Given the description of an element on the screen output the (x, y) to click on. 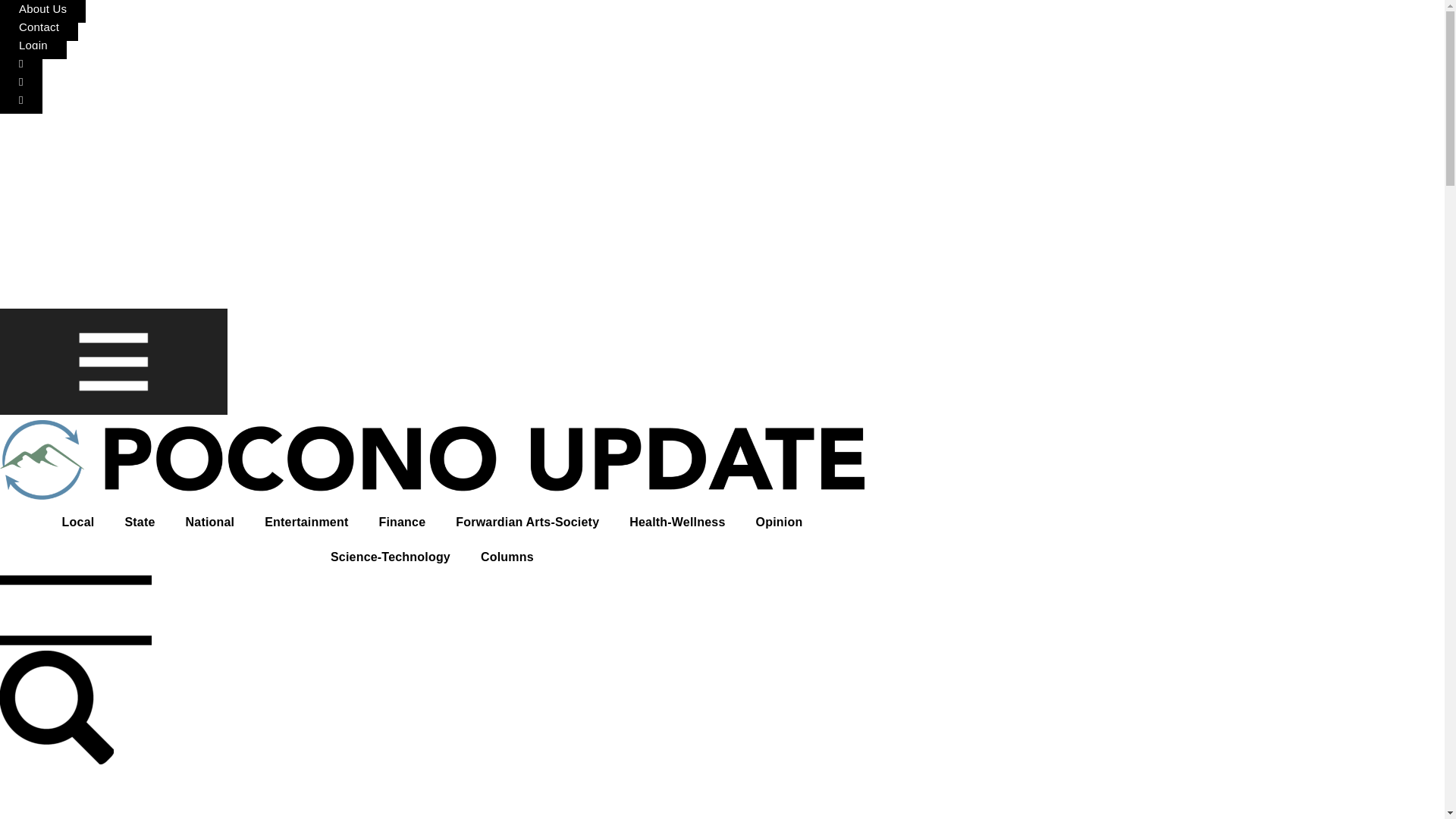
Science-Technology (390, 556)
Login (33, 44)
Contact (39, 26)
Local (78, 522)
State (139, 522)
Forwardian Arts-Society (527, 522)
National (210, 522)
Health-Wellness (676, 522)
Entertainment (305, 522)
Opinion (779, 522)
About Us (42, 11)
Columns (506, 556)
Finance (401, 522)
